Given the description of an element on the screen output the (x, y) to click on. 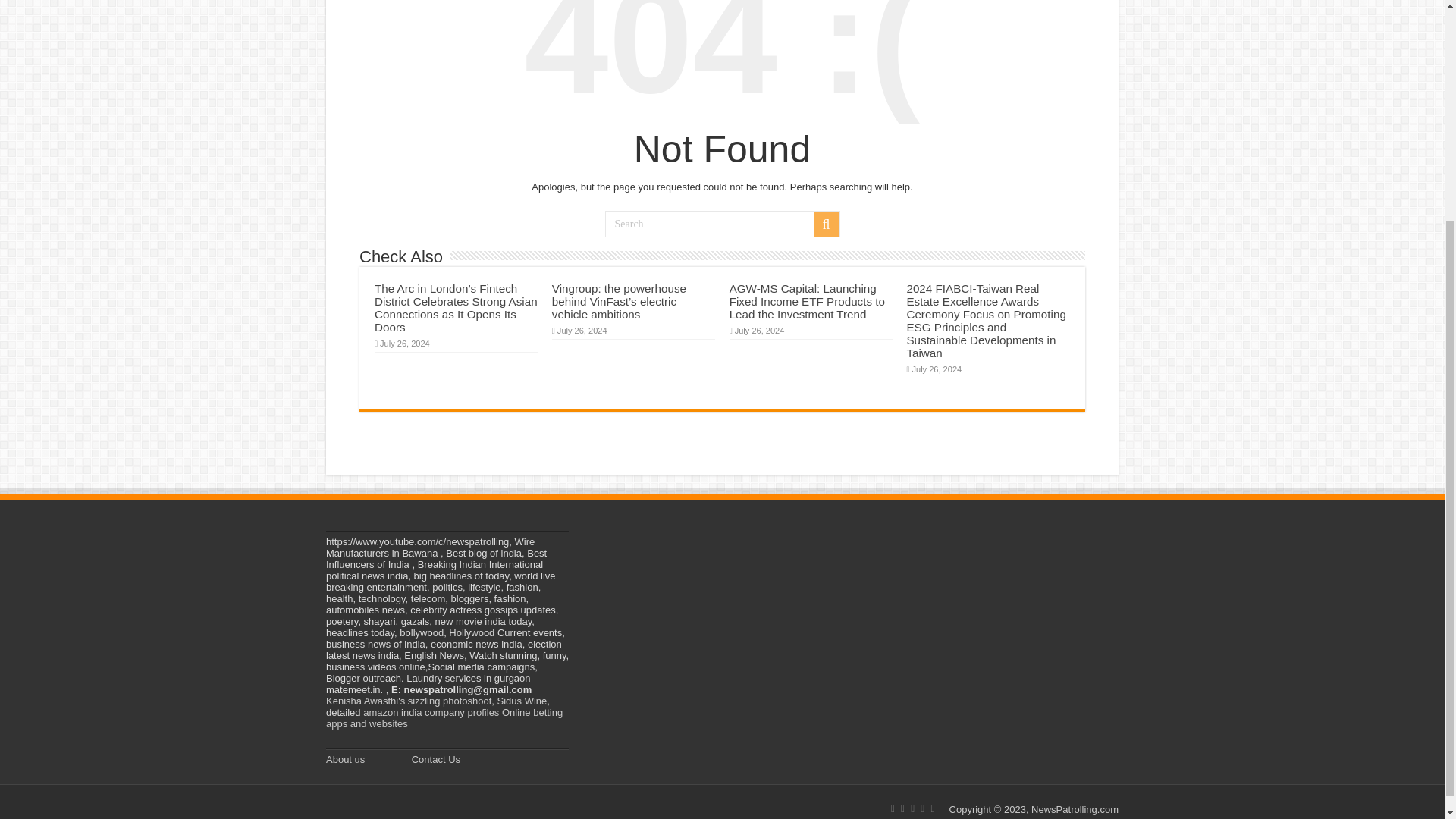
Search (722, 223)
